Given the description of an element on the screen output the (x, y) to click on. 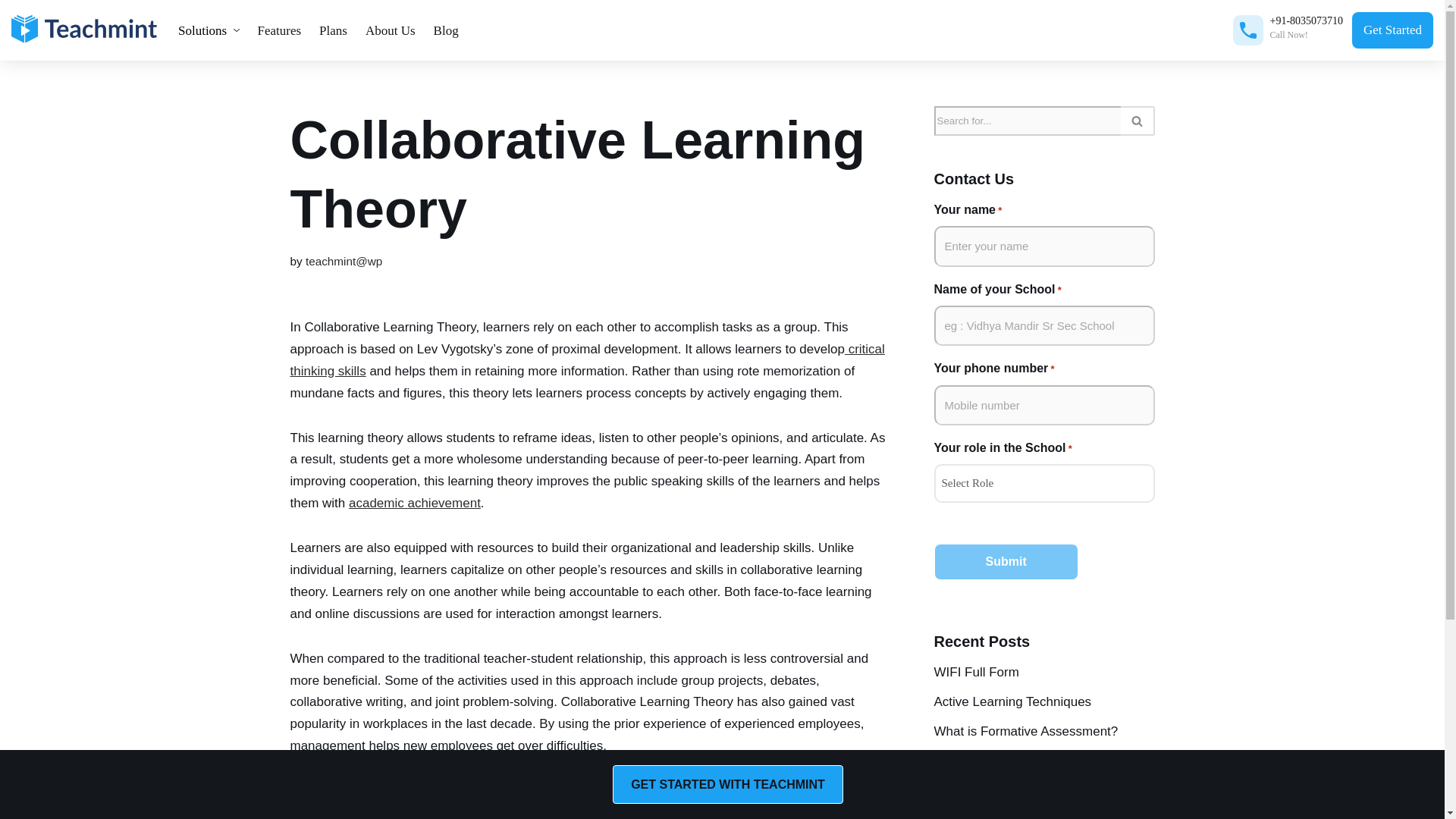
Features (279, 30)
About Us (390, 30)
Plans (333, 30)
Skip to content (11, 31)
Blog (446, 30)
Submit (1006, 561)
